Given the description of an element on the screen output the (x, y) to click on. 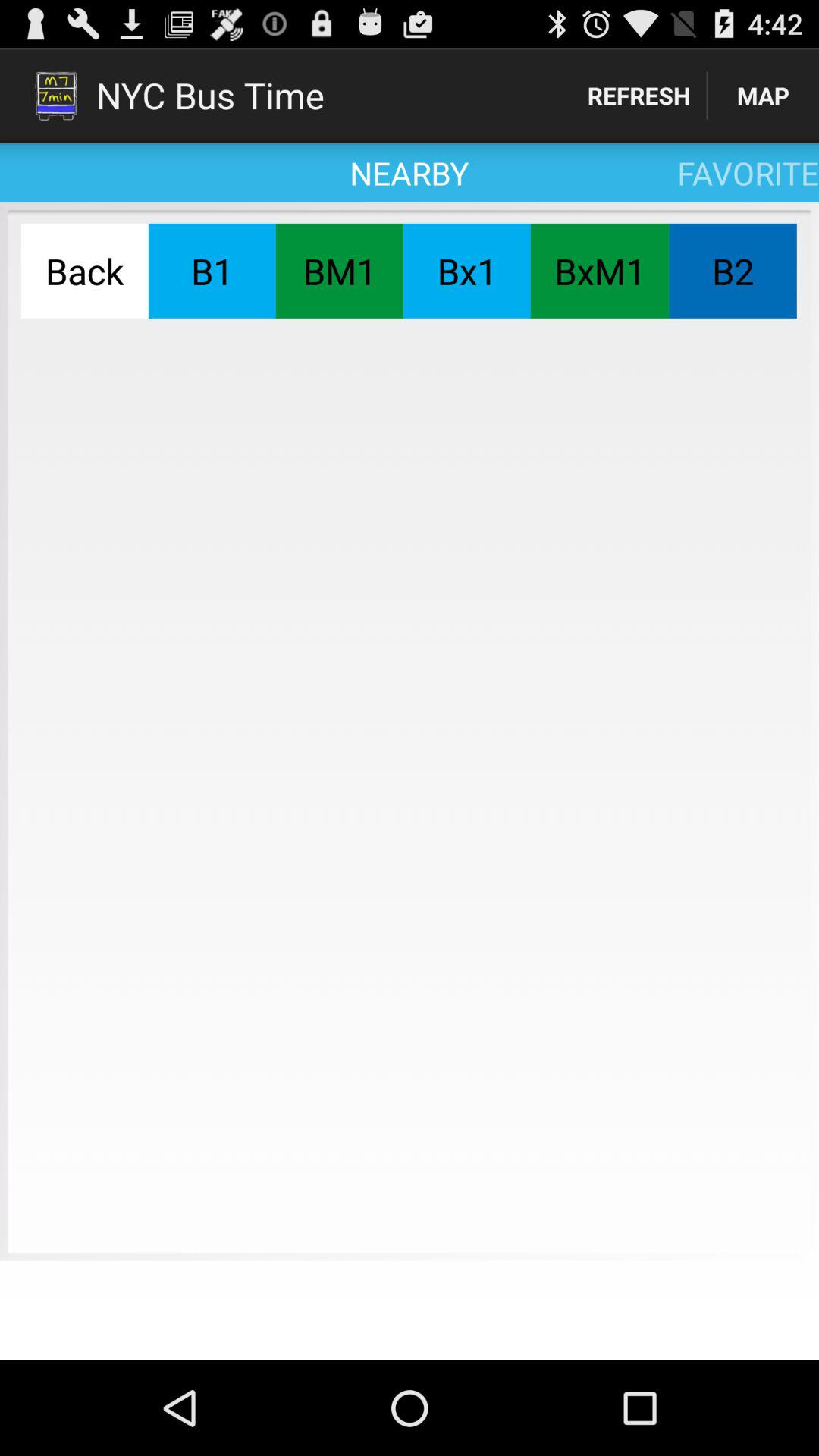
click the b1 (211, 271)
